Given the description of an element on the screen output the (x, y) to click on. 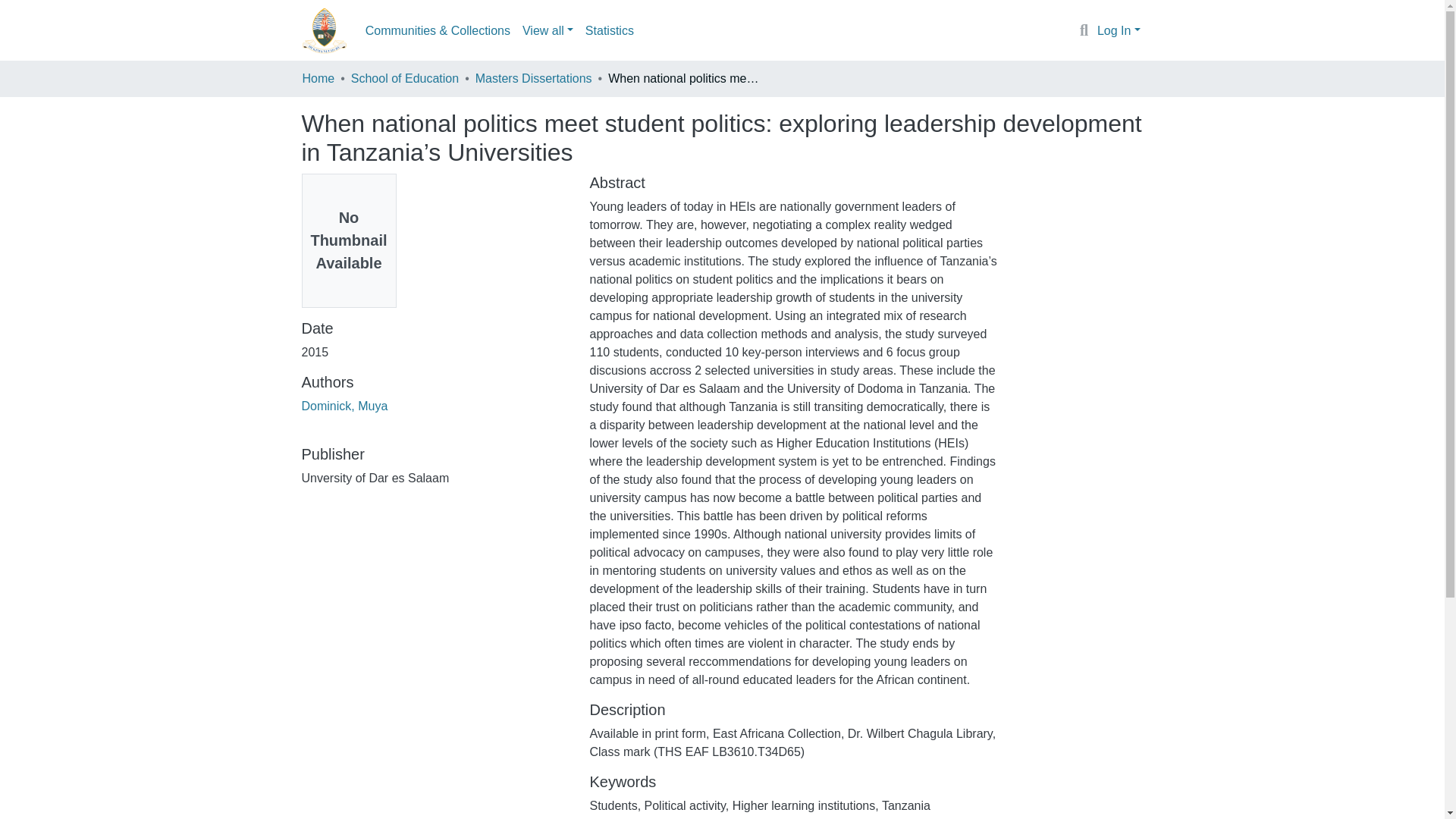
Search (1084, 30)
Statistics (609, 30)
View all (547, 30)
Home (317, 78)
Statistics (609, 30)
School of Education (404, 78)
Log In (1118, 30)
Masters Dissertations (534, 78)
Dominick, Muya (344, 405)
